Given the description of an element on the screen output the (x, y) to click on. 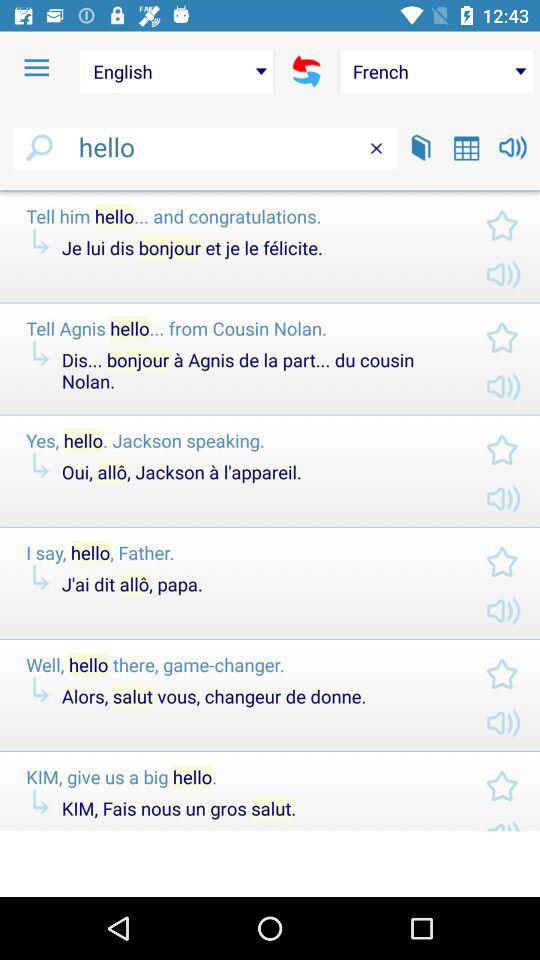
choose item above hello (176, 71)
